Given the description of an element on the screen output the (x, y) to click on. 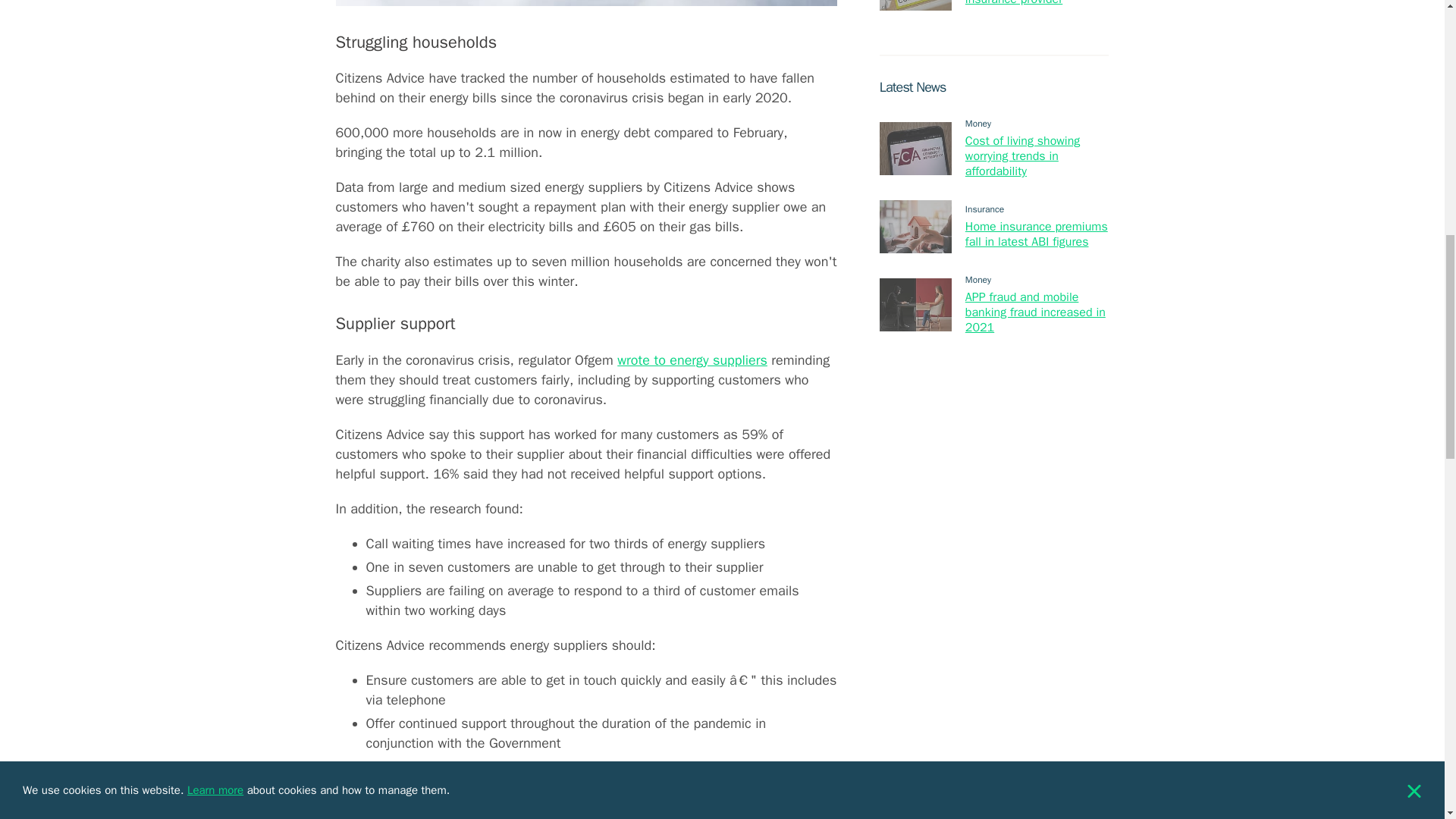
wrote to energy suppliers (692, 360)
